Given the description of an element on the screen output the (x, y) to click on. 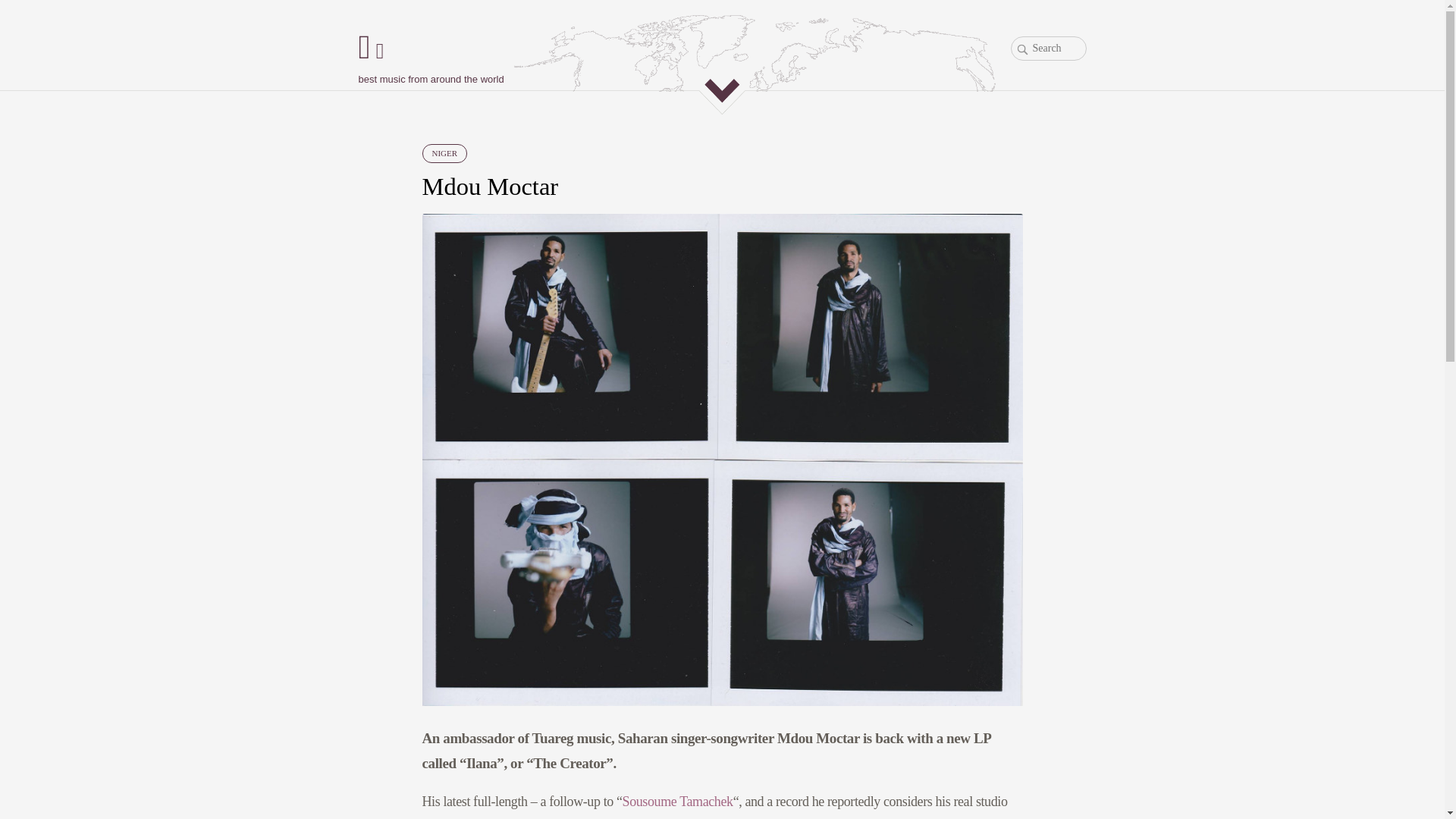
Search for: (1048, 48)
